Given the description of an element on the screen output the (x, y) to click on. 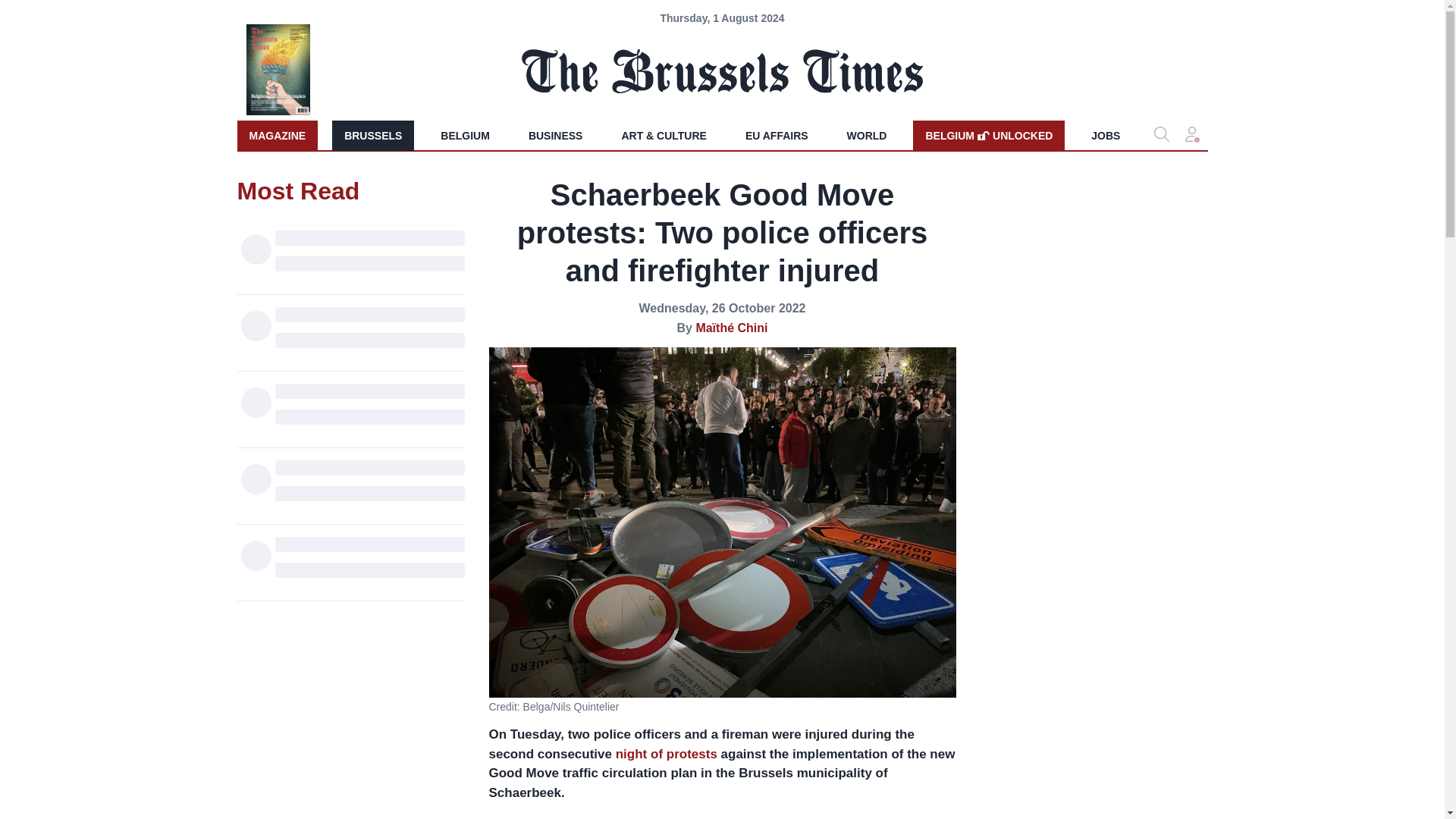
JOBS (1105, 135)
BELGIUM (465, 135)
BRUSSELS (372, 135)
WORLD (866, 135)
MAGAZINE (988, 135)
EU AFFAIRS (276, 135)
BUSINESS (777, 135)
night of protests (555, 135)
